Given the description of an element on the screen output the (x, y) to click on. 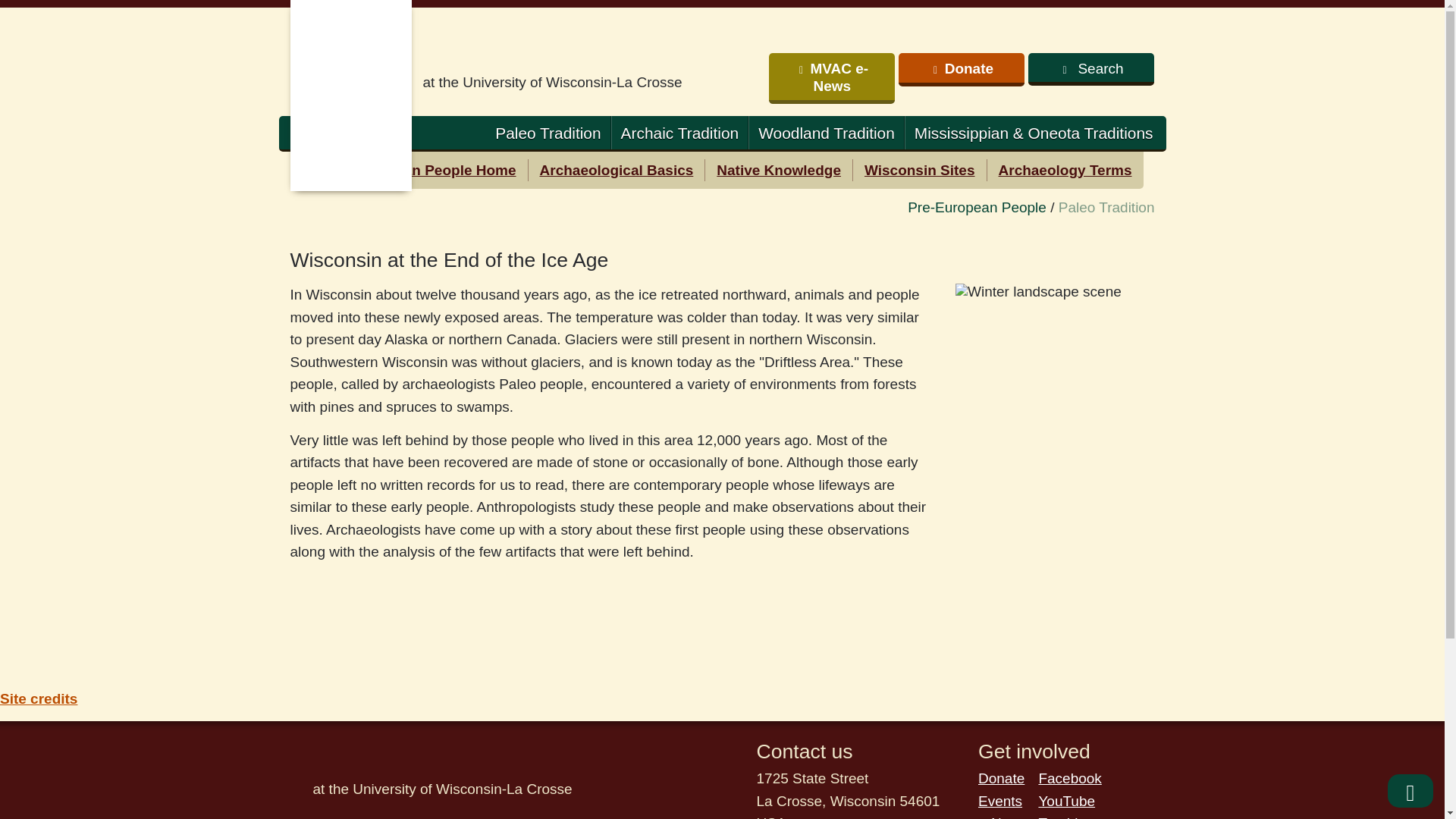
Mississippi Valley Archaeology Center logo (584, 48)
Site credits (38, 698)
Search (1090, 69)
Donate (961, 69)
MVAC e-News (831, 78)
